Given the description of an element on the screen output the (x, y) to click on. 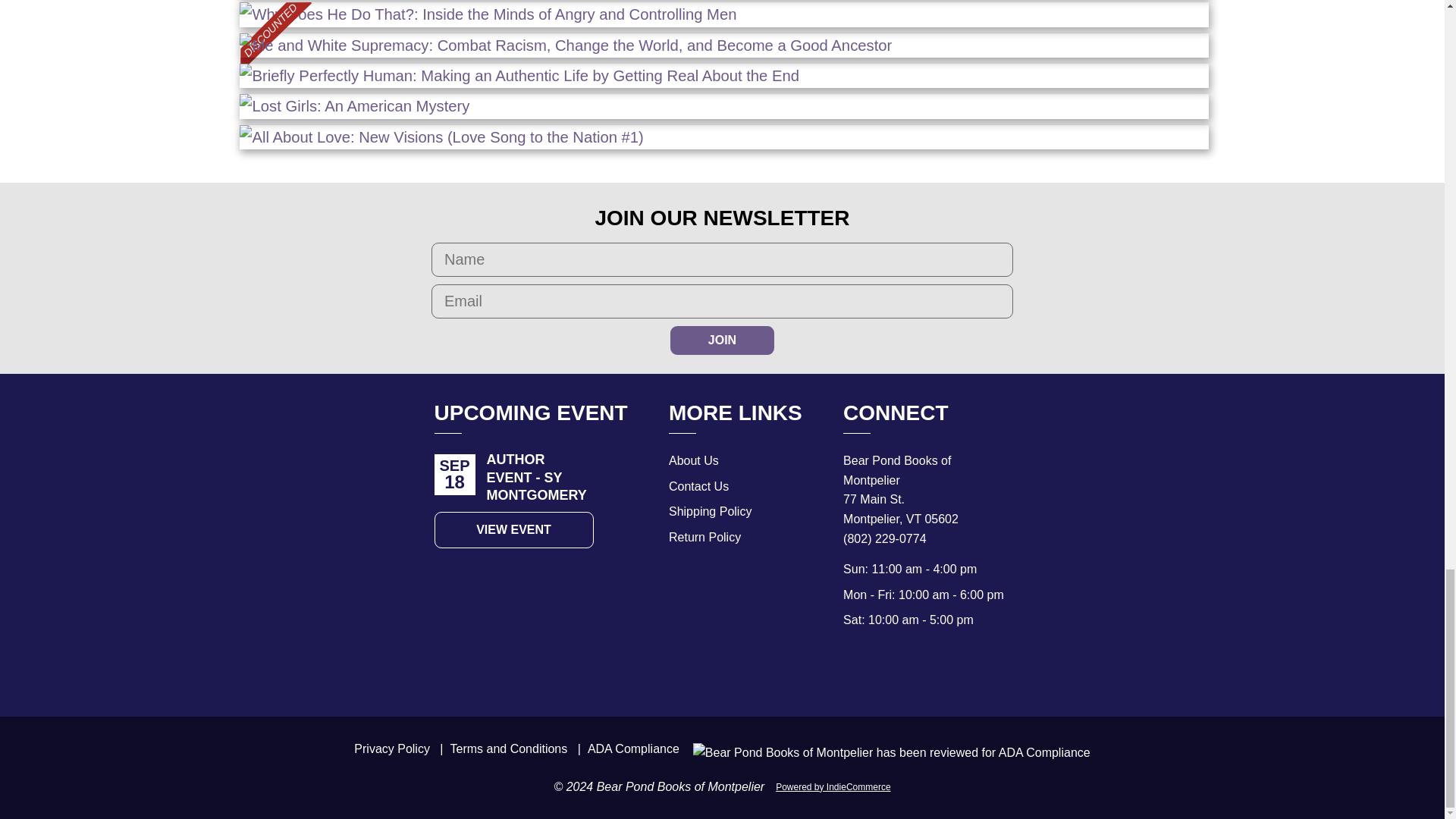
Connect with Youtube Channel (919, 663)
Join (721, 339)
Connect with X (885, 663)
Connect with Facebook (852, 663)
Connect with Instagram (951, 663)
